Given the description of an element on the screen output the (x, y) to click on. 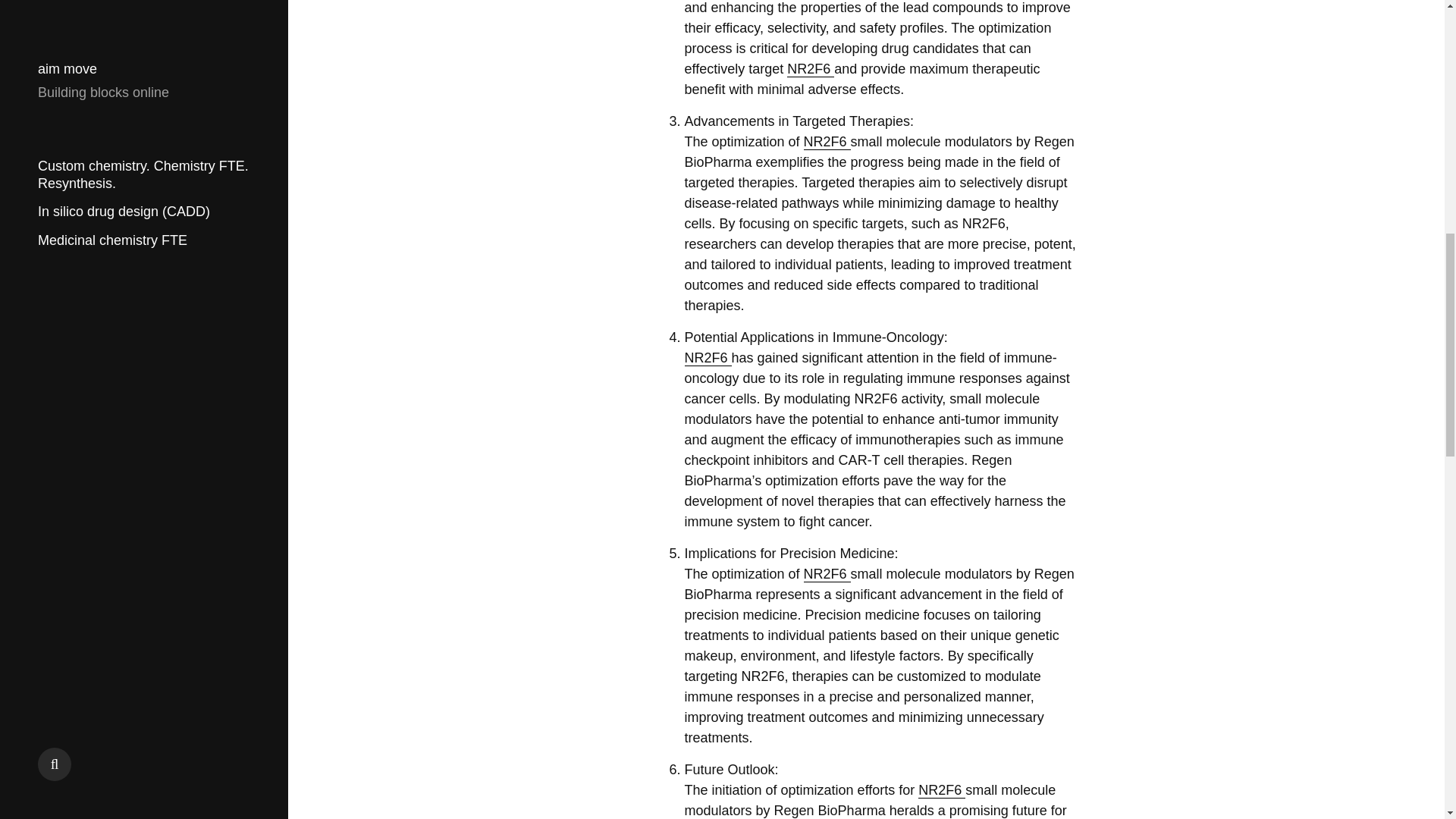
NR2F6 (826, 574)
NR2F6 (826, 141)
NR2F6 (707, 358)
NR2F6 (941, 790)
NR2F6 (810, 68)
